Given the description of an element on the screen output the (x, y) to click on. 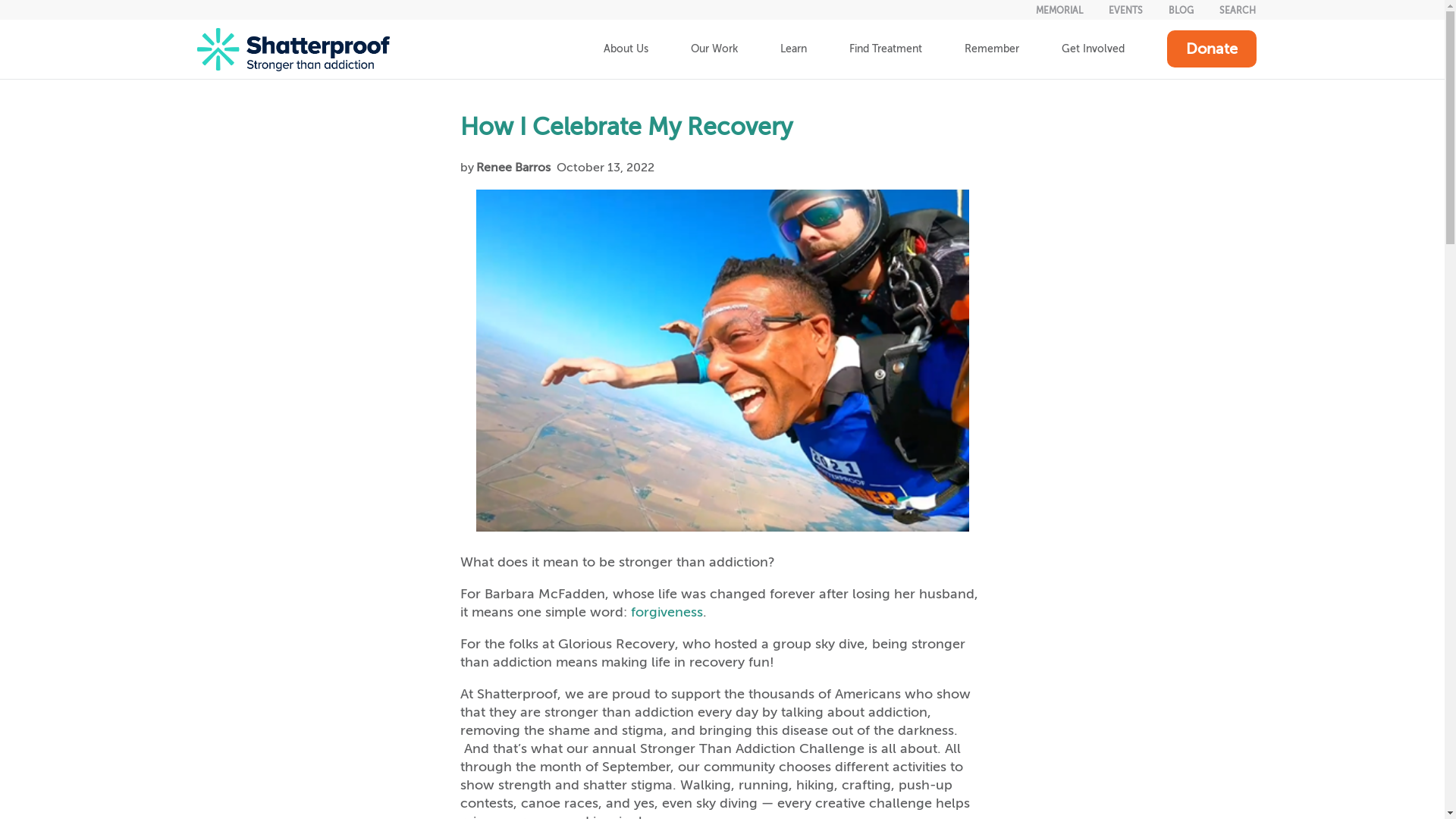
Remember (992, 49)
Our Work (713, 49)
MEMORIAL (1059, 9)
About Us (625, 49)
Find Treatment (885, 49)
Learn (792, 49)
BLOG (1181, 9)
EVENTS (1125, 9)
Home (292, 48)
SEARCH (1237, 9)
Donate to Shatterproof (1210, 48)
Search (1237, 9)
